Given the description of an element on the screen output the (x, y) to click on. 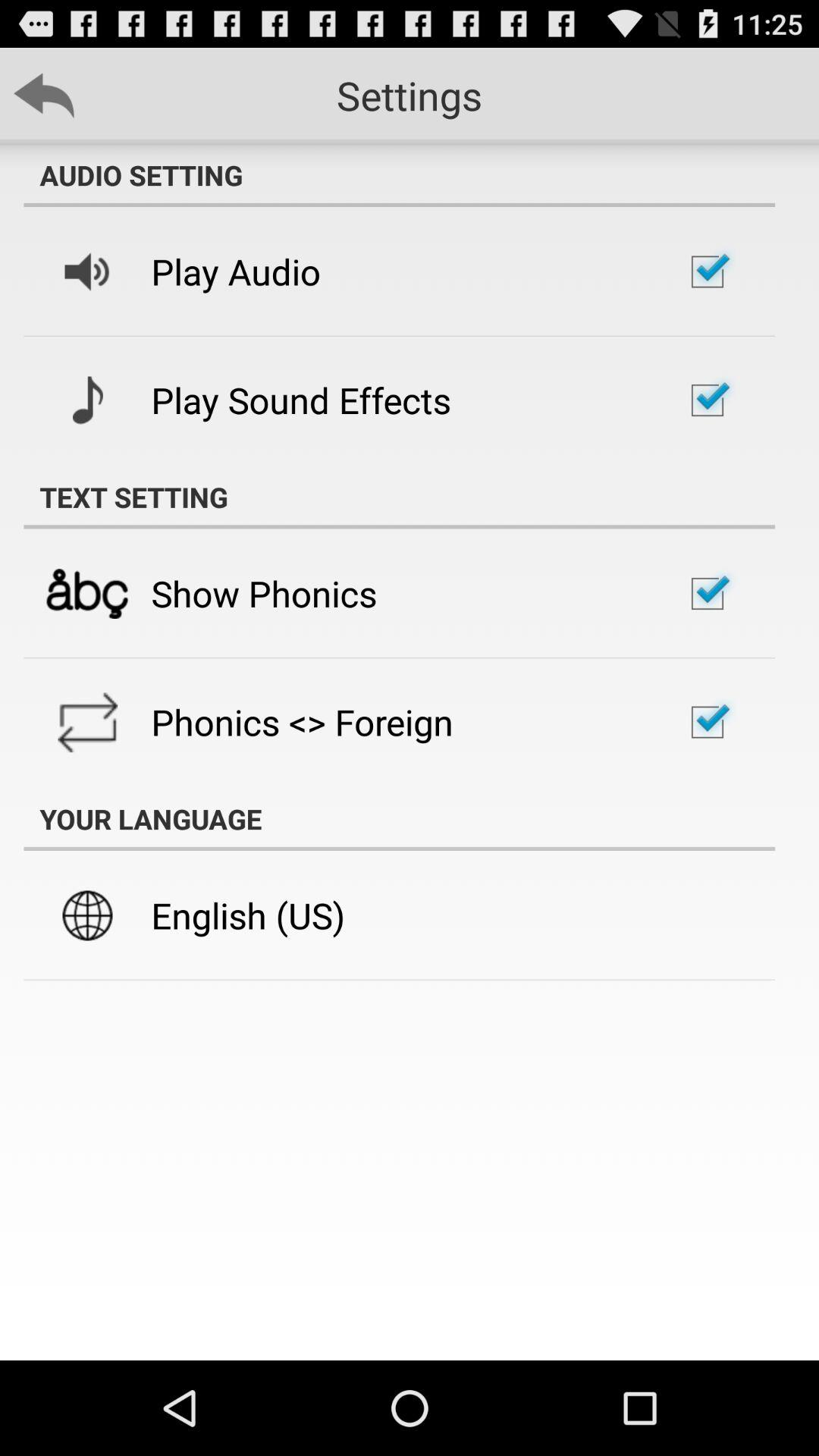
open english (us) app (248, 915)
